Given the description of an element on the screen output the (x, y) to click on. 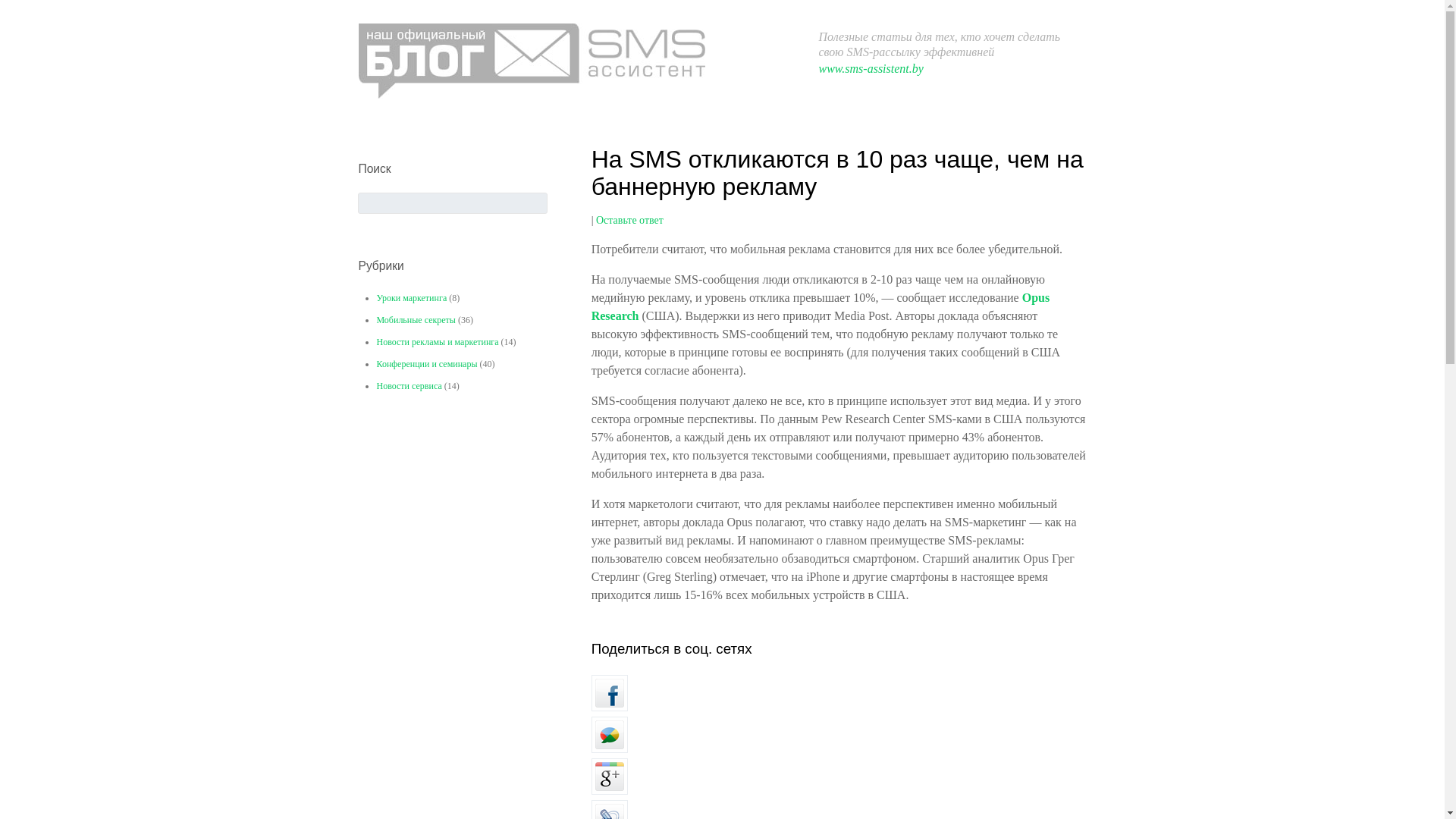
Opus Research Element type: text (820, 306)
www.sms-assistent.by Element type: text (871, 68)
